Given the description of an element on the screen output the (x, y) to click on. 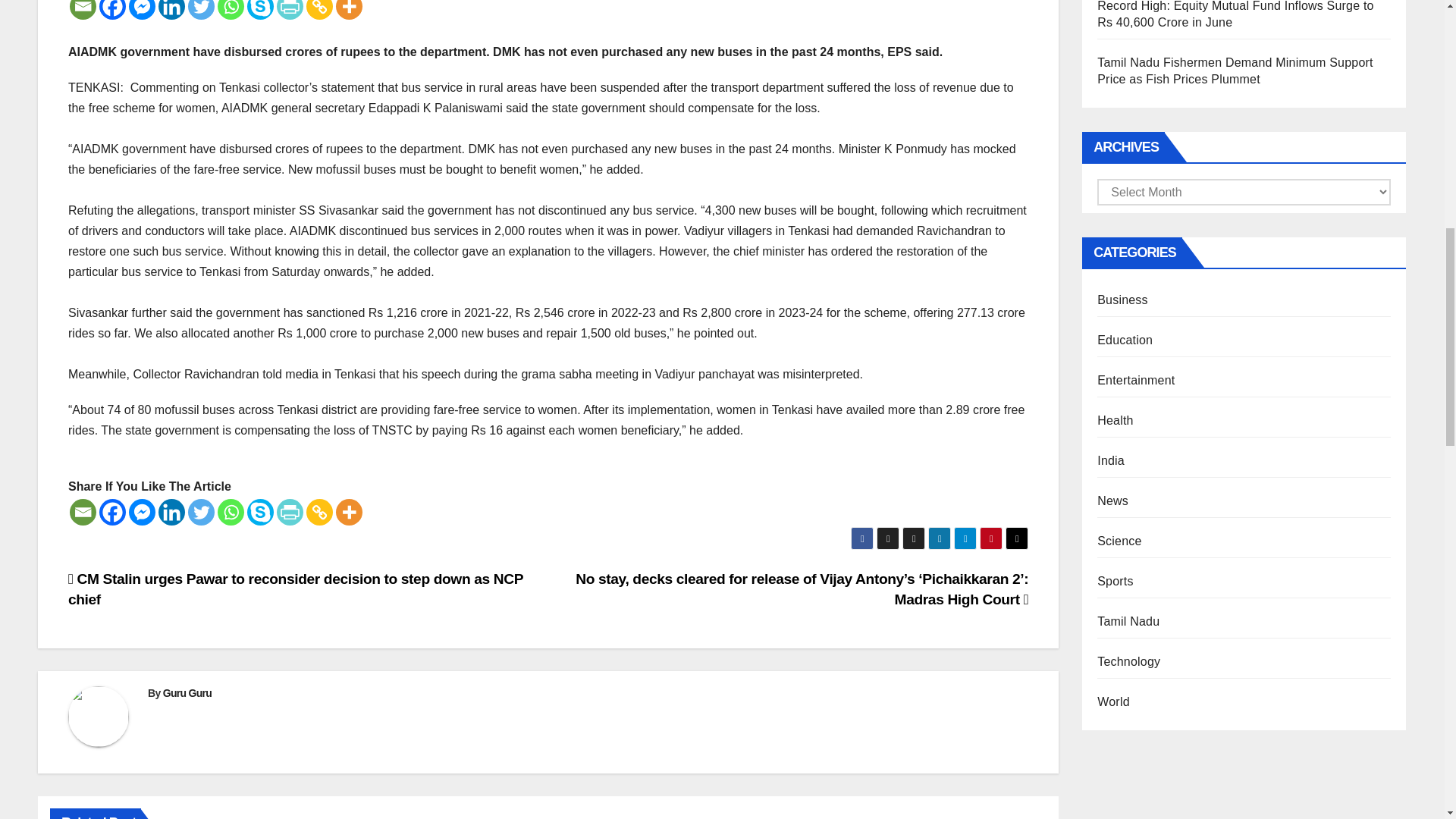
Copy Link (319, 9)
Email (82, 9)
Facebook (112, 9)
More (349, 9)
Twitter (200, 9)
Linkedin (171, 9)
PrintFriendly (289, 9)
Email (82, 511)
Whatsapp (230, 9)
Skype (260, 9)
